Given the description of an element on the screen output the (x, y) to click on. 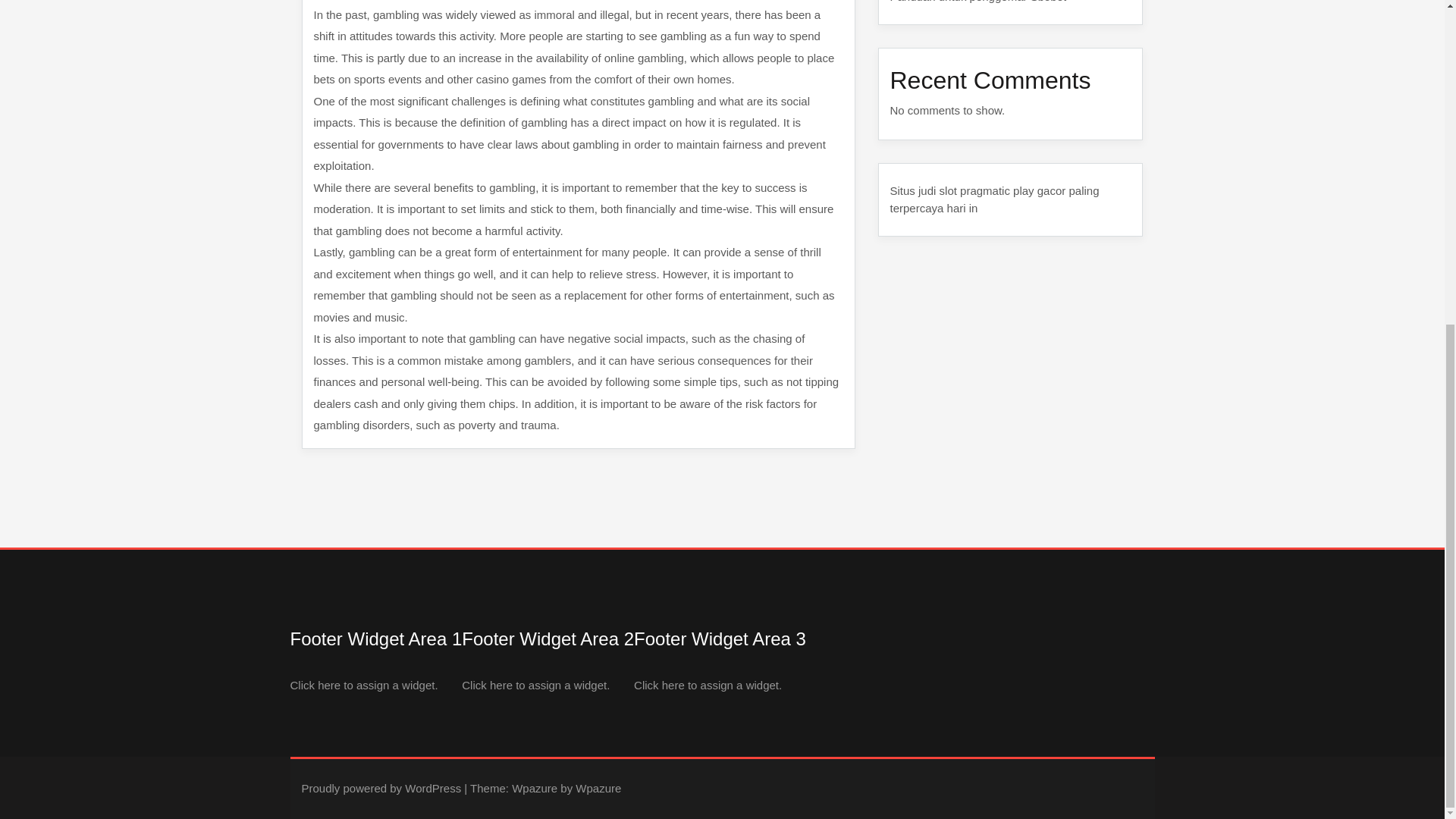
Click here to assign a widget. (535, 684)
Proudly powered by WordPress (381, 788)
Wpazure (534, 788)
Click here to assign a widget. (363, 684)
Click here to assign a widget. (707, 684)
slot pragmatic play (986, 190)
